Given the description of an element on the screen output the (x, y) to click on. 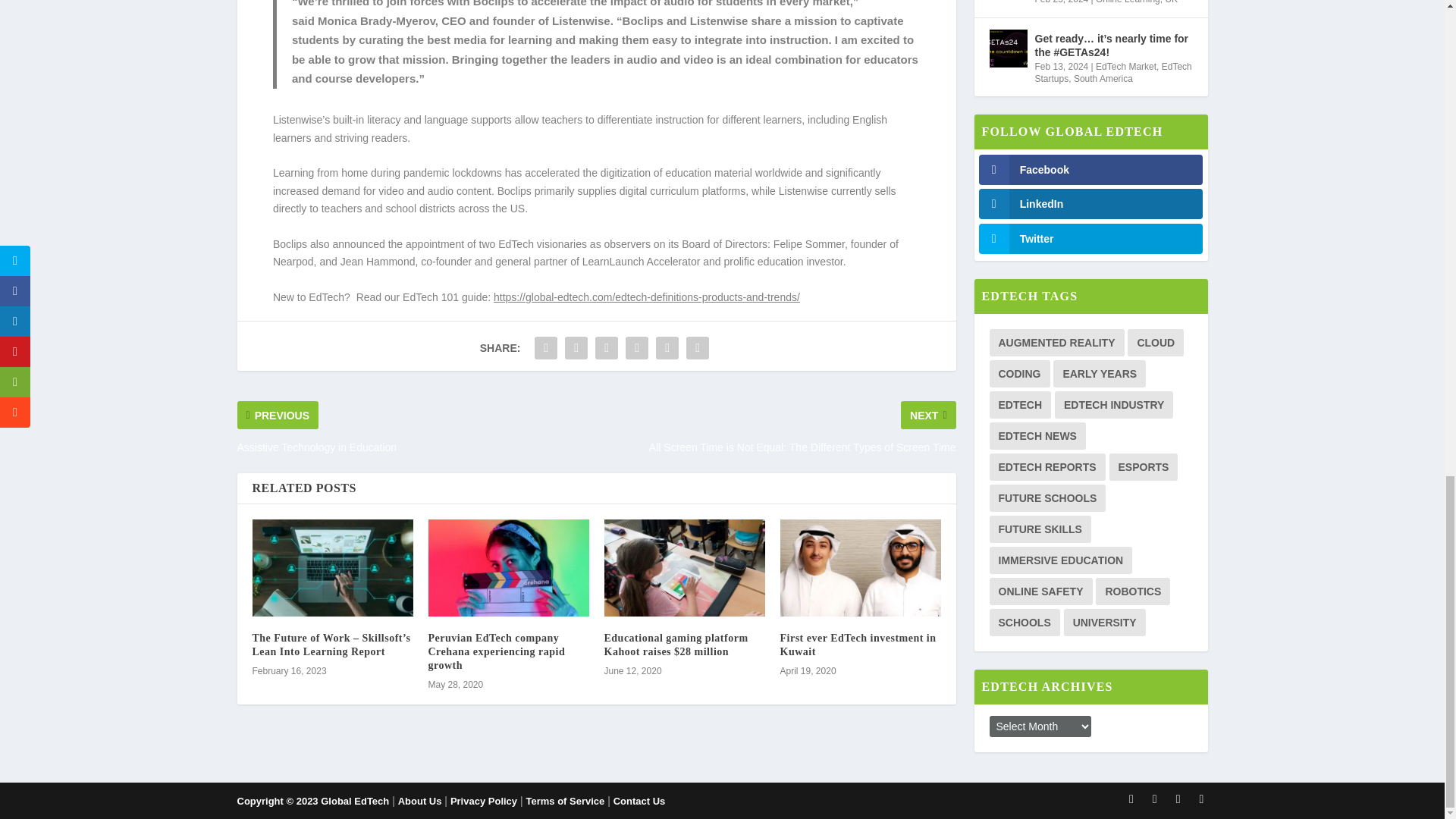
Peruvian EdTech company Crehana experiencing rapid growth (496, 651)
First ever EdTech investment in Kuwait (859, 567)
First ever EdTech investment in Kuwait (857, 644)
Peruvian EdTech company Crehana experiencing rapid growth (508, 567)
